Given the description of an element on the screen output the (x, y) to click on. 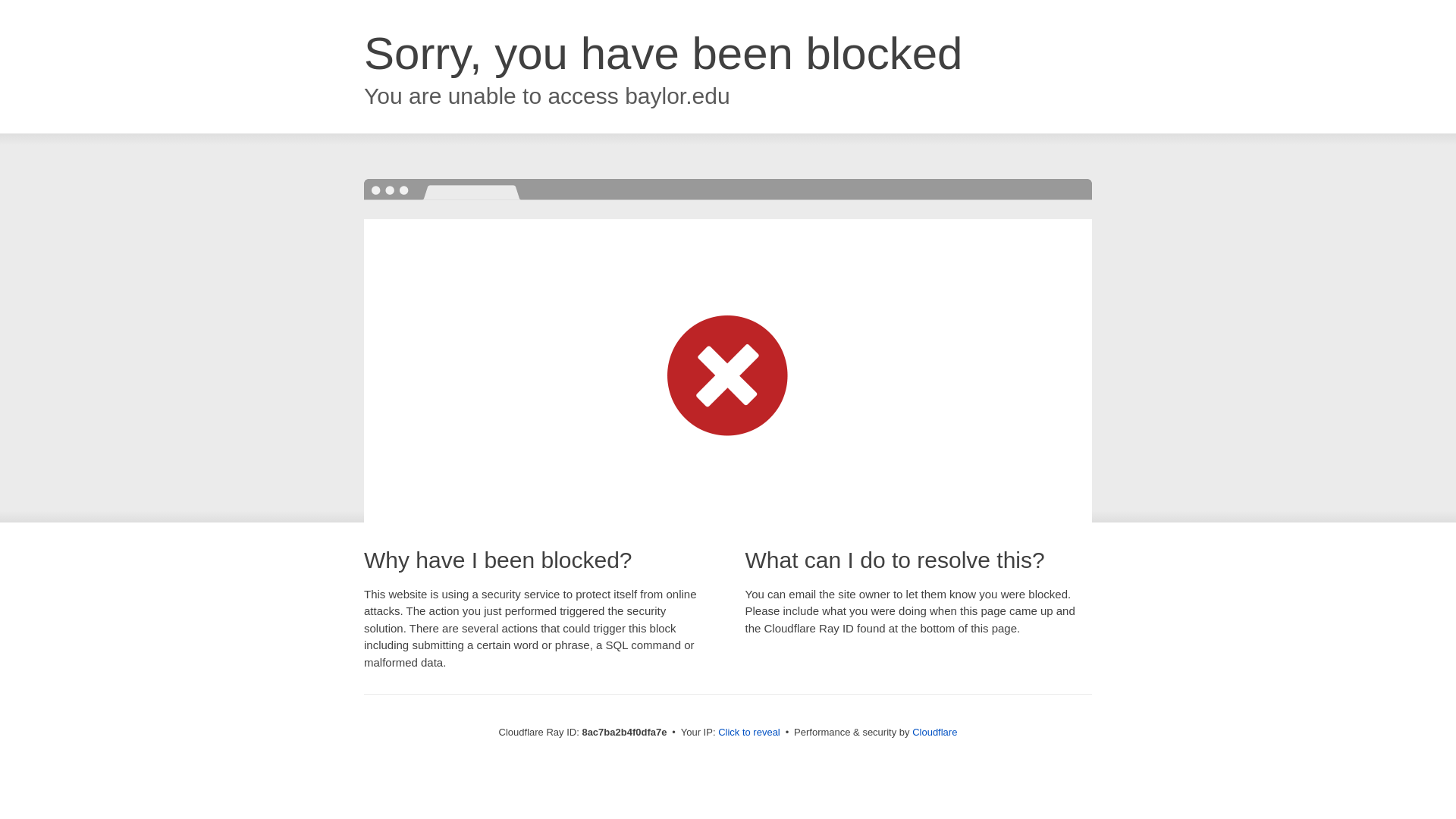
Cloudflare (934, 731)
Click to reveal (748, 732)
